Given the description of an element on the screen output the (x, y) to click on. 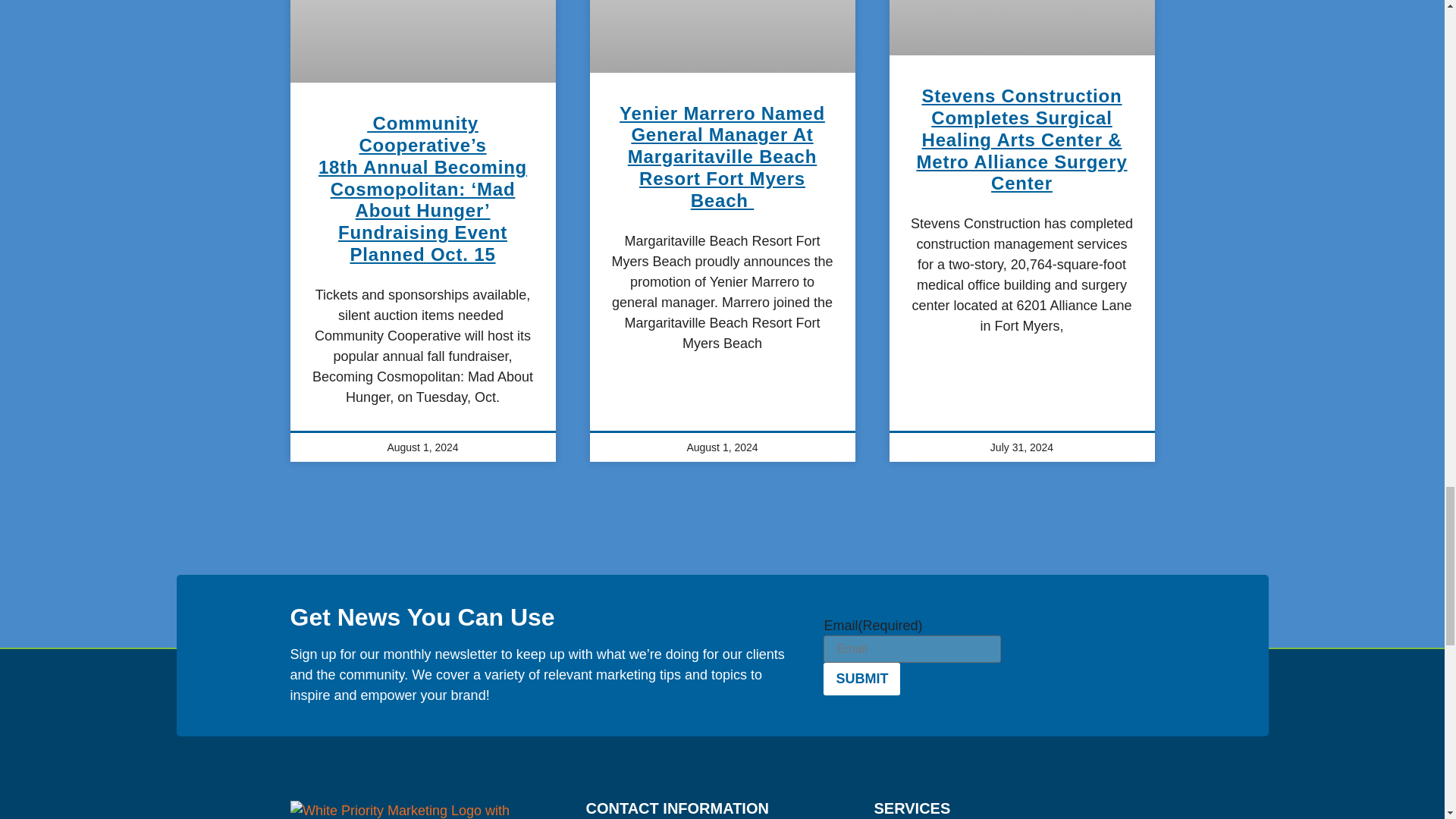
Submit (861, 678)
Submit (861, 678)
